Given the description of an element on the screen output the (x, y) to click on. 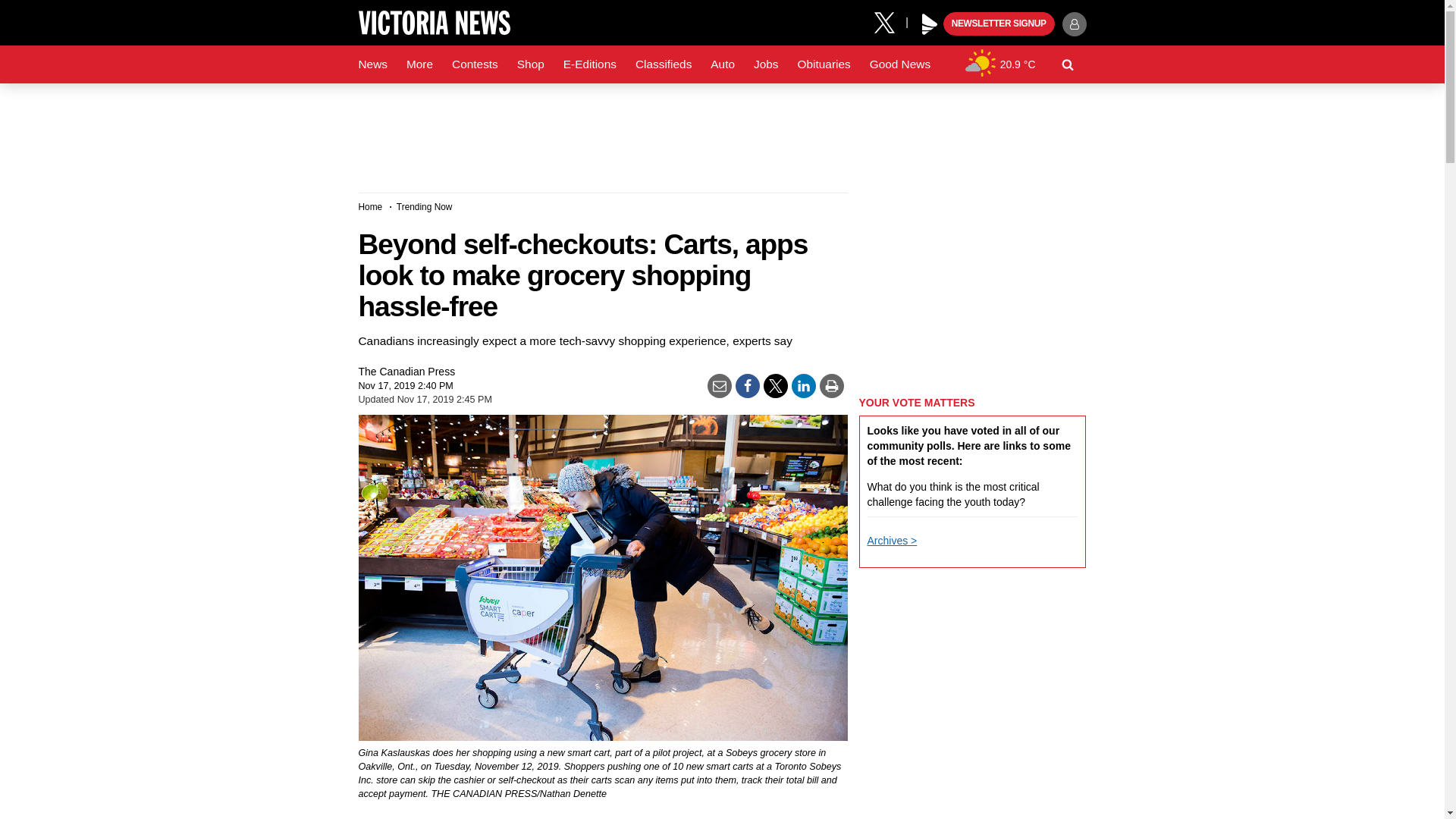
News (372, 64)
NEWSLETTER SIGNUP (998, 24)
Black Press Media (929, 24)
Play (929, 24)
X (889, 21)
